Given the description of an element on the screen output the (x, y) to click on. 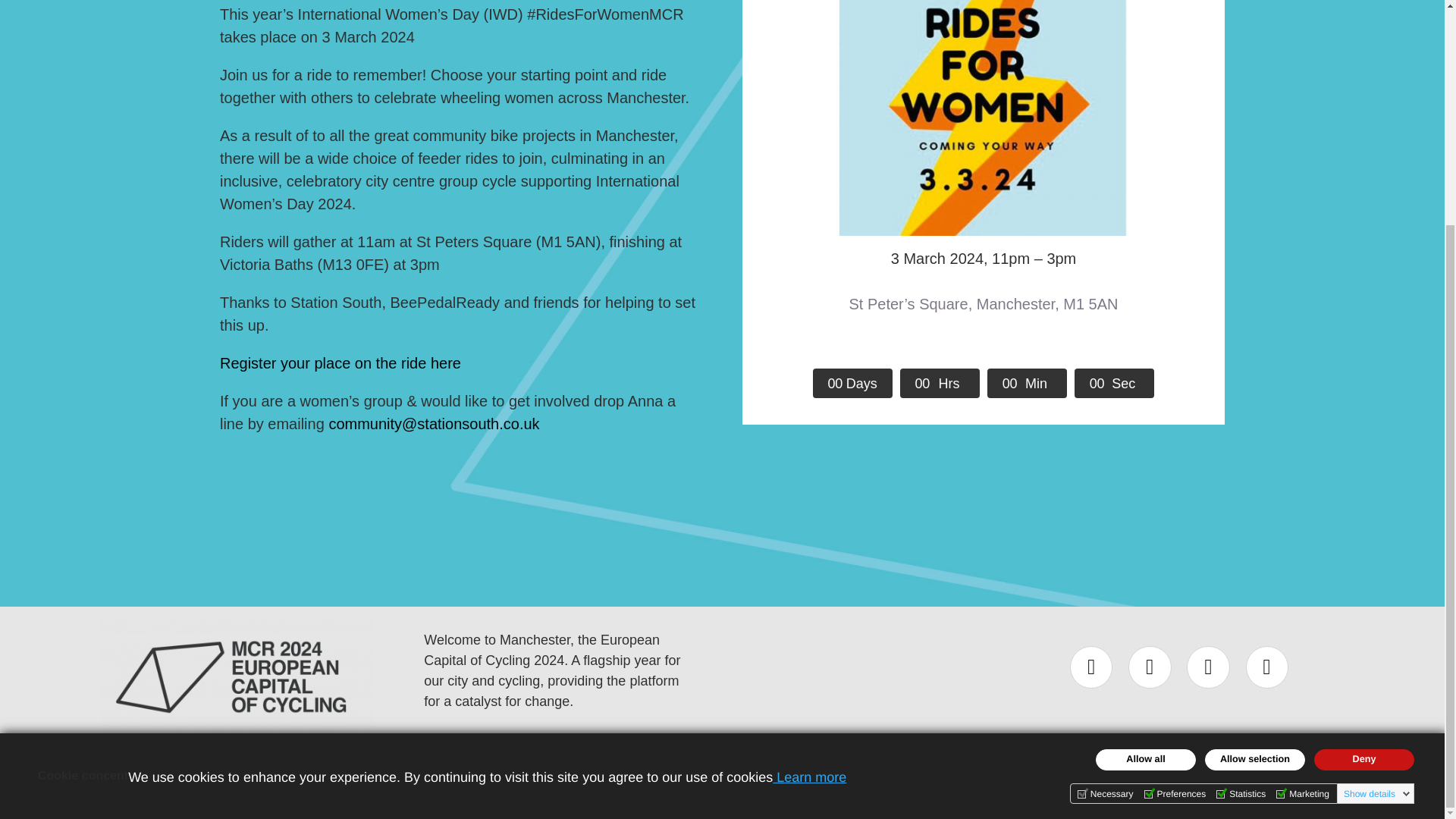
Show details (1376, 493)
Mandatory - can not be deselected.  (1105, 492)
Deny (1363, 459)
Allow all (1145, 459)
Allow selection (1254, 459)
 Learn more (809, 476)
